Given the description of an element on the screen output the (x, y) to click on. 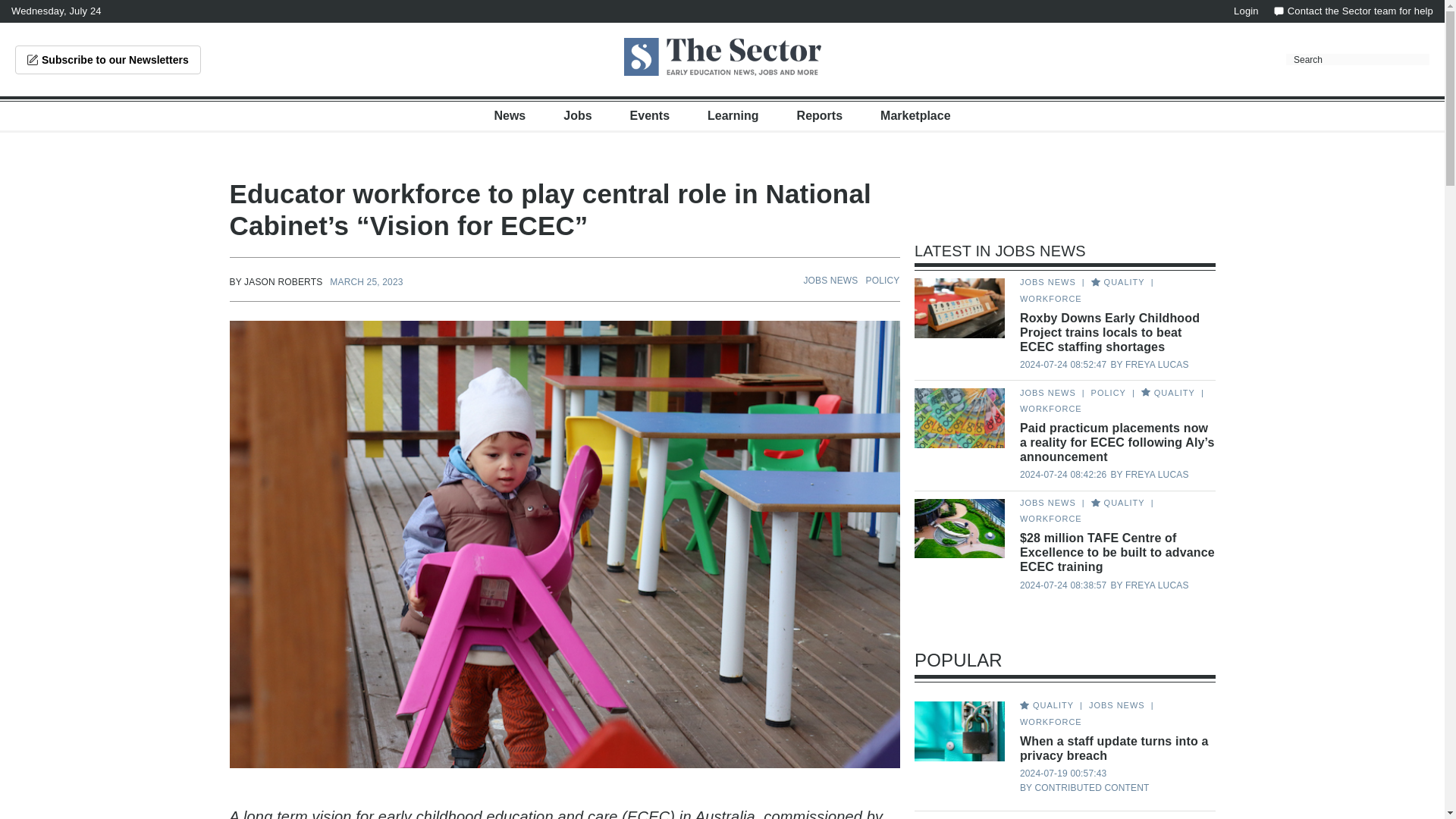
Login (1246, 11)
Contact the Sector team for help (1353, 11)
Reports (819, 115)
Subscribe to our Newsletters (107, 59)
Marketplace (915, 115)
News (509, 115)
POLICY (882, 280)
Learning (732, 115)
JOBS NEWS (830, 280)
Jobs (577, 115)
Events (649, 115)
